Given the description of an element on the screen output the (x, y) to click on. 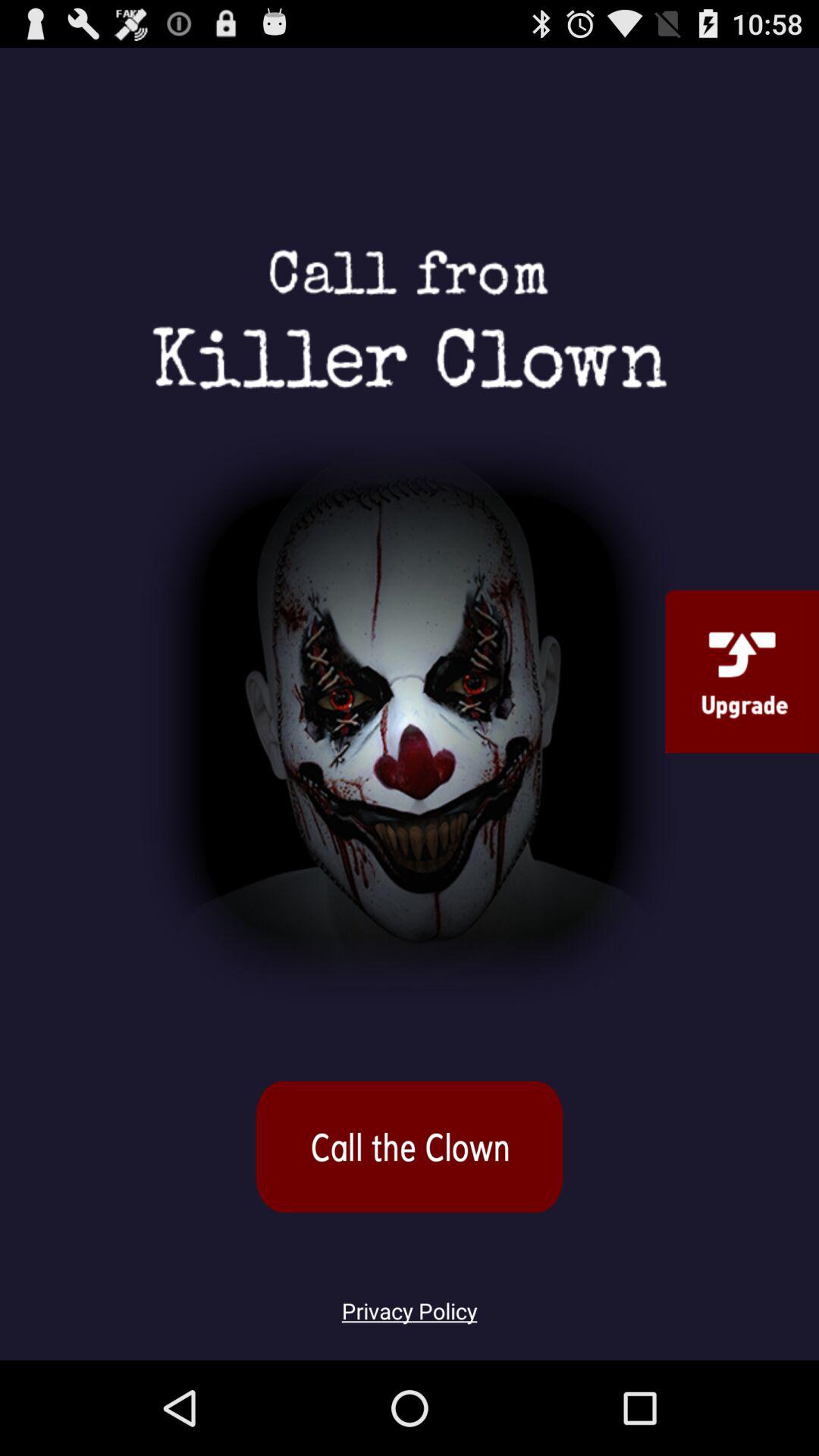
upgrade app (742, 671)
